Given the description of an element on the screen output the (x, y) to click on. 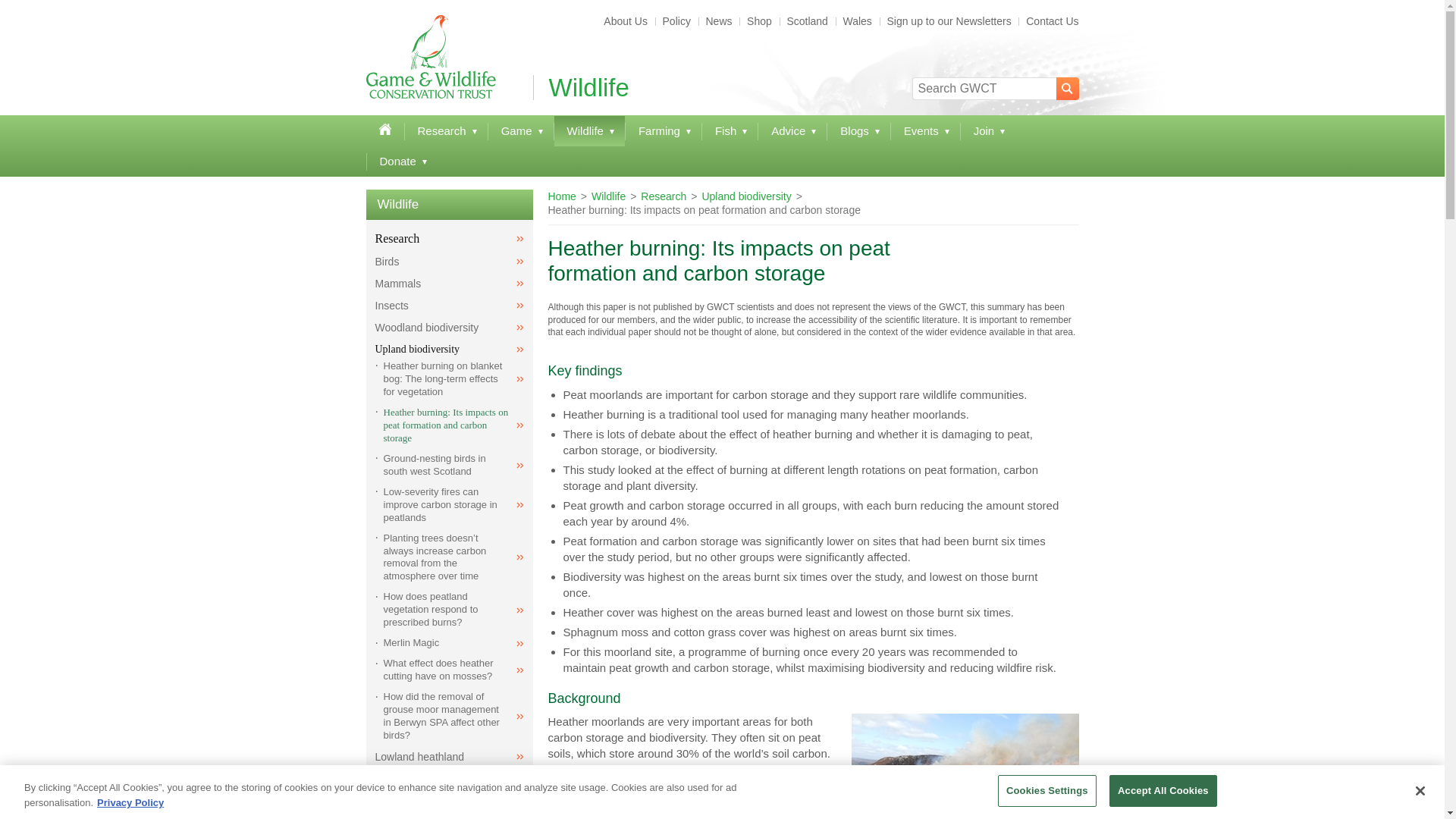
Policy (676, 21)
Shop (758, 21)
Research (445, 131)
Wales (857, 21)
About Us (625, 21)
Search (1066, 87)
Heather burning in action (964, 766)
Sign up to our Newsletters (949, 21)
Wildlife (589, 131)
News (718, 21)
Game (520, 131)
Contact Us (1047, 21)
Scotland (806, 21)
Home (384, 130)
